Given the description of an element on the screen output the (x, y) to click on. 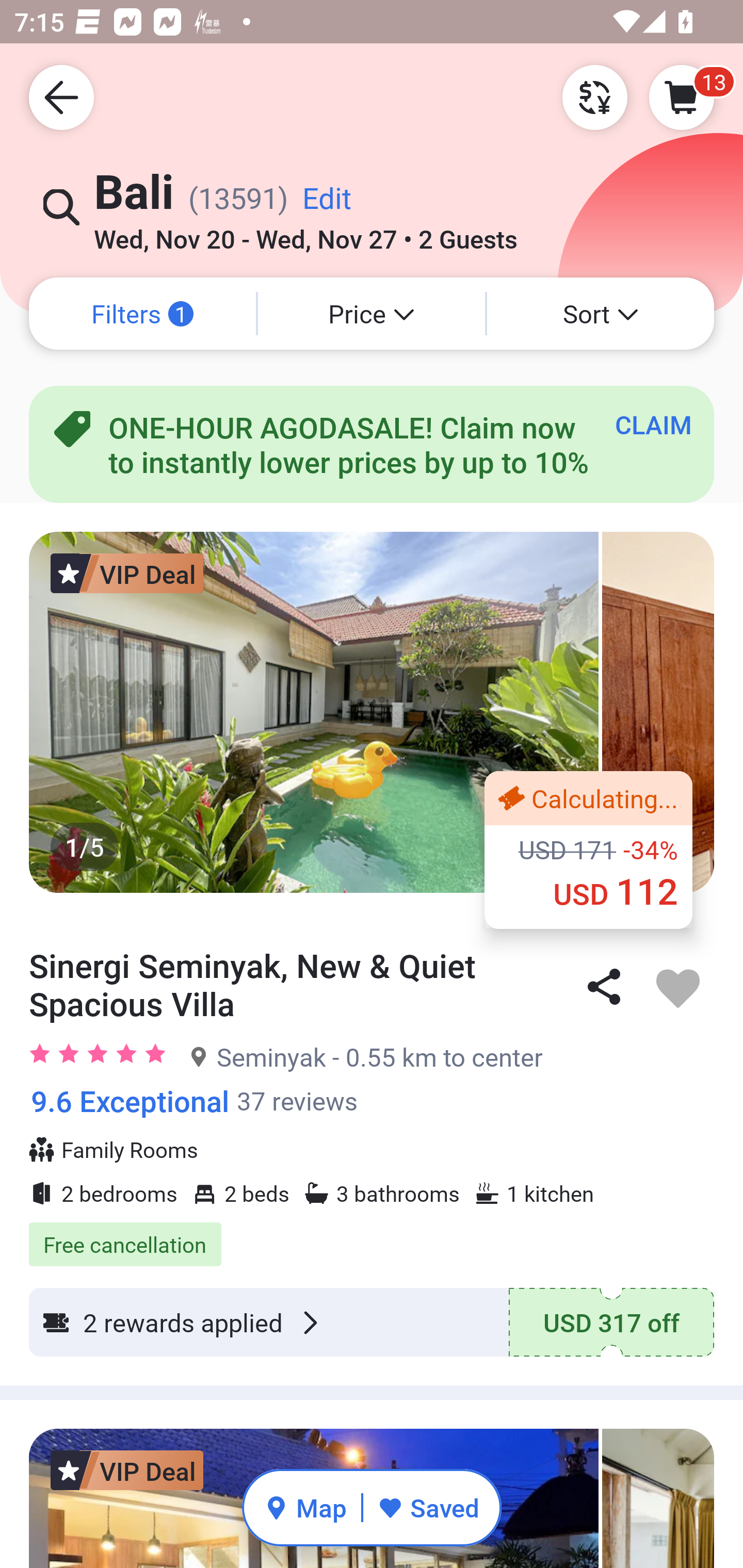
Filters 1 (141, 313)
Price (371, 313)
Sort (600, 313)
CLAIM (653, 424)
VIP Deal (126, 572)
1/5 (371, 711)
Calculating... ‪USD 171 -34% ‪USD 112 (588, 849)
Free cancellation (371, 1233)
2 rewards applied USD 317 off (371, 1322)
VIP Deal (126, 1469)
Map (305, 1507)
Saved (428, 1507)
